Given the description of an element on the screen output the (x, y) to click on. 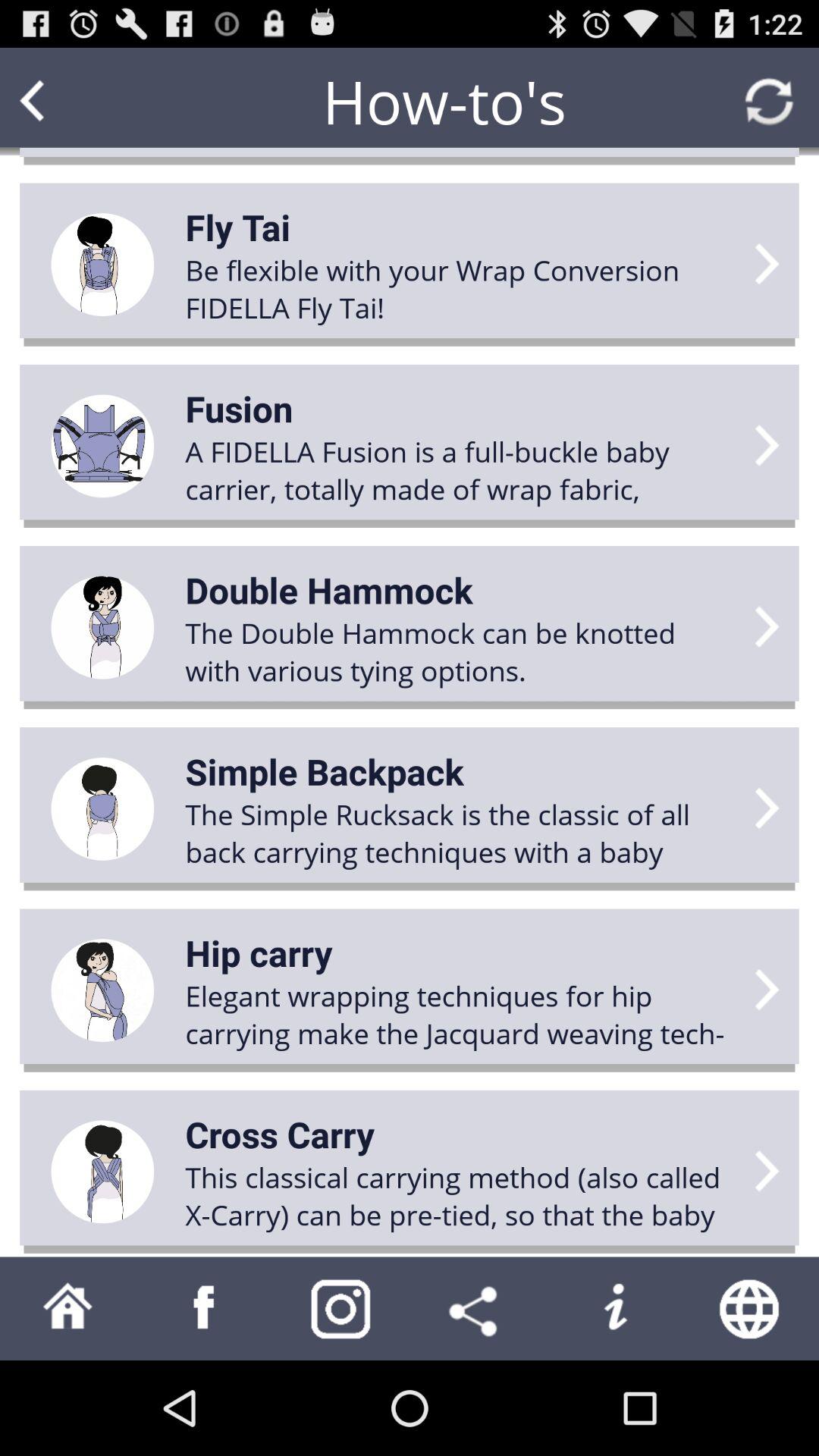
flip until a fidella fusion app (460, 469)
